Given the description of an element on the screen output the (x, y) to click on. 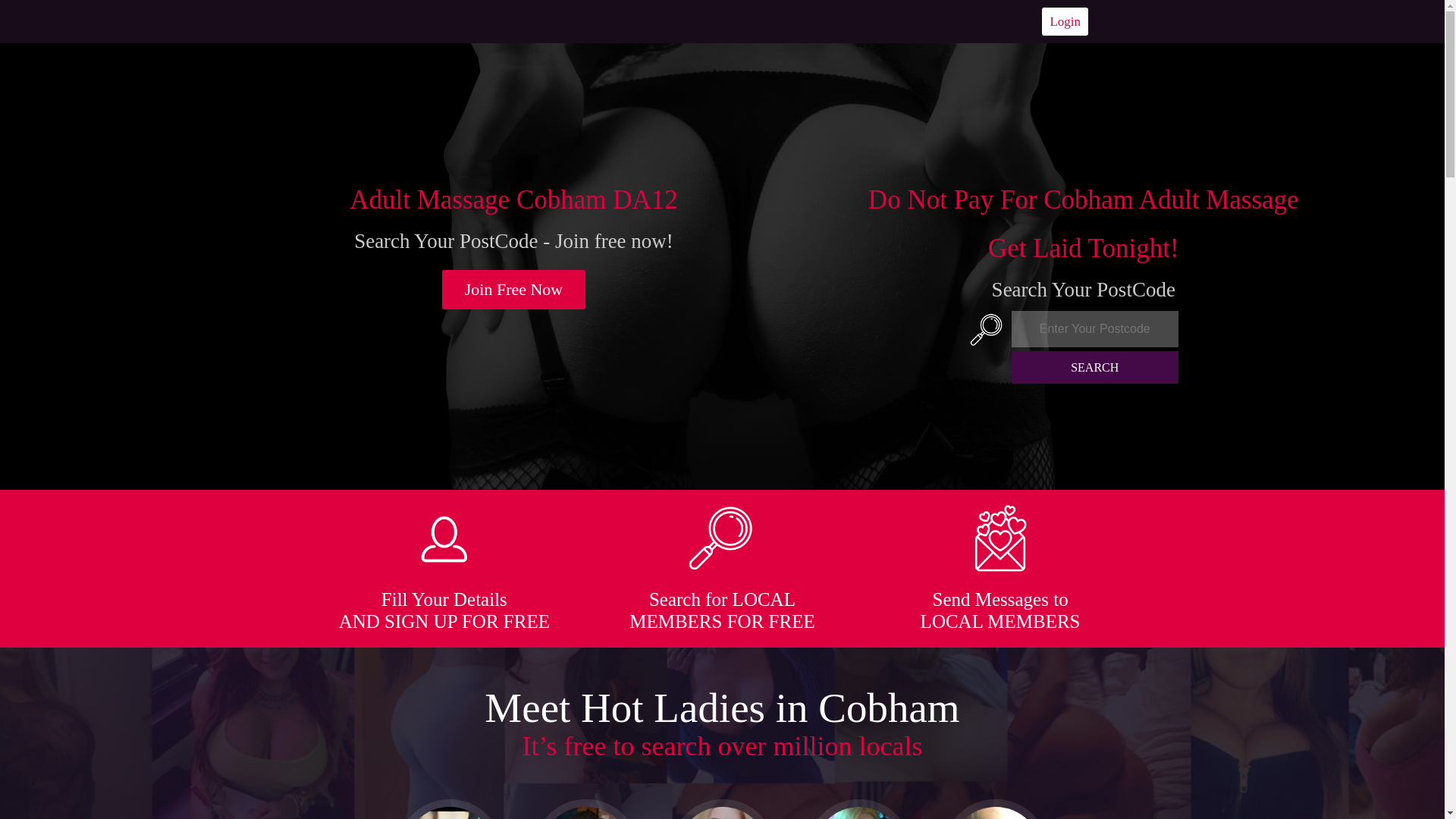
Join Free Now (514, 289)
SEARCH (1094, 367)
Login (1064, 21)
Join (514, 289)
Login (1064, 21)
